Given the description of an element on the screen output the (x, y) to click on. 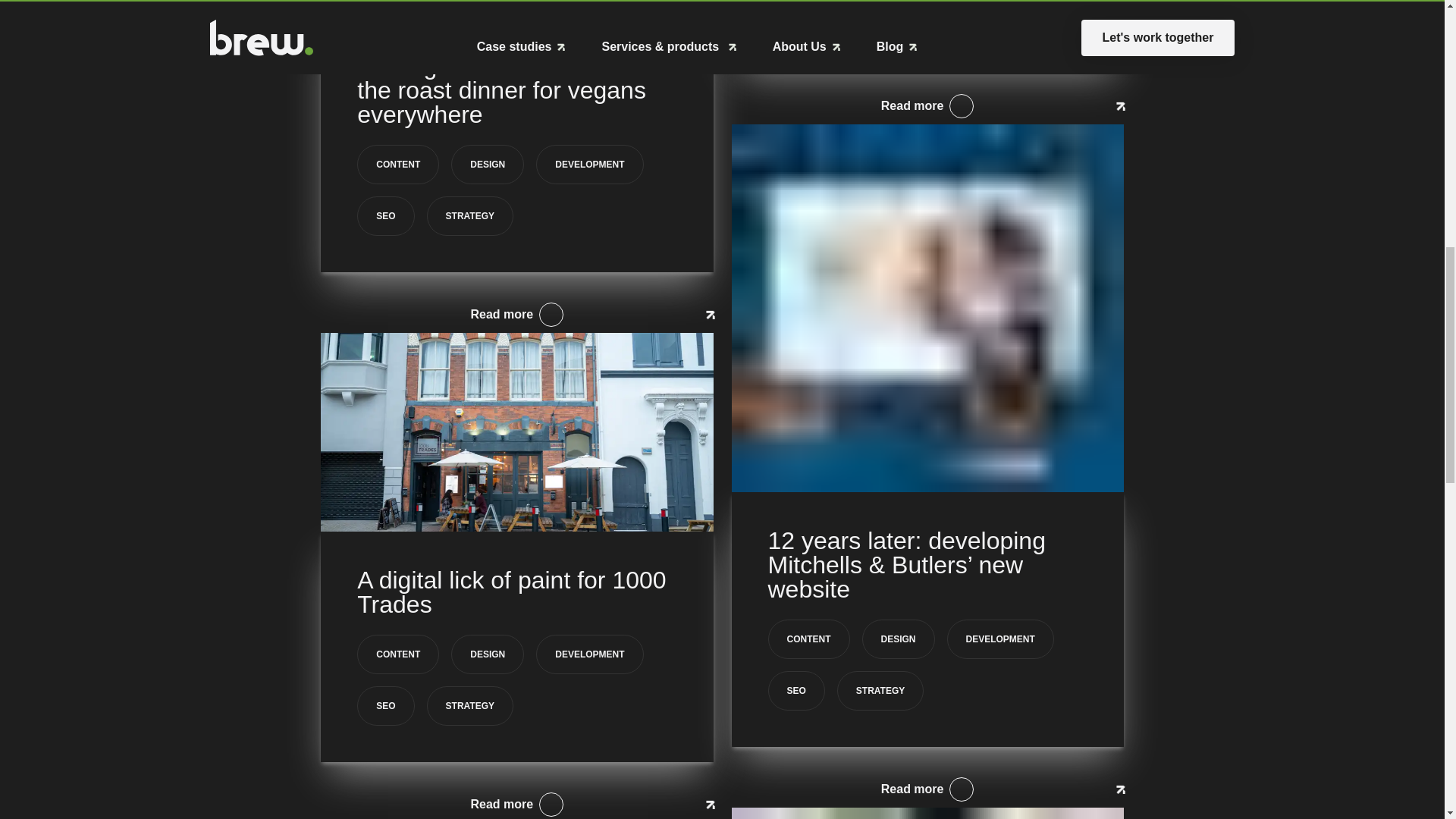
Read more (516, 802)
Read more (516, 314)
Read more (927, 789)
Read more (927, 105)
